Given the description of an element on the screen output the (x, y) to click on. 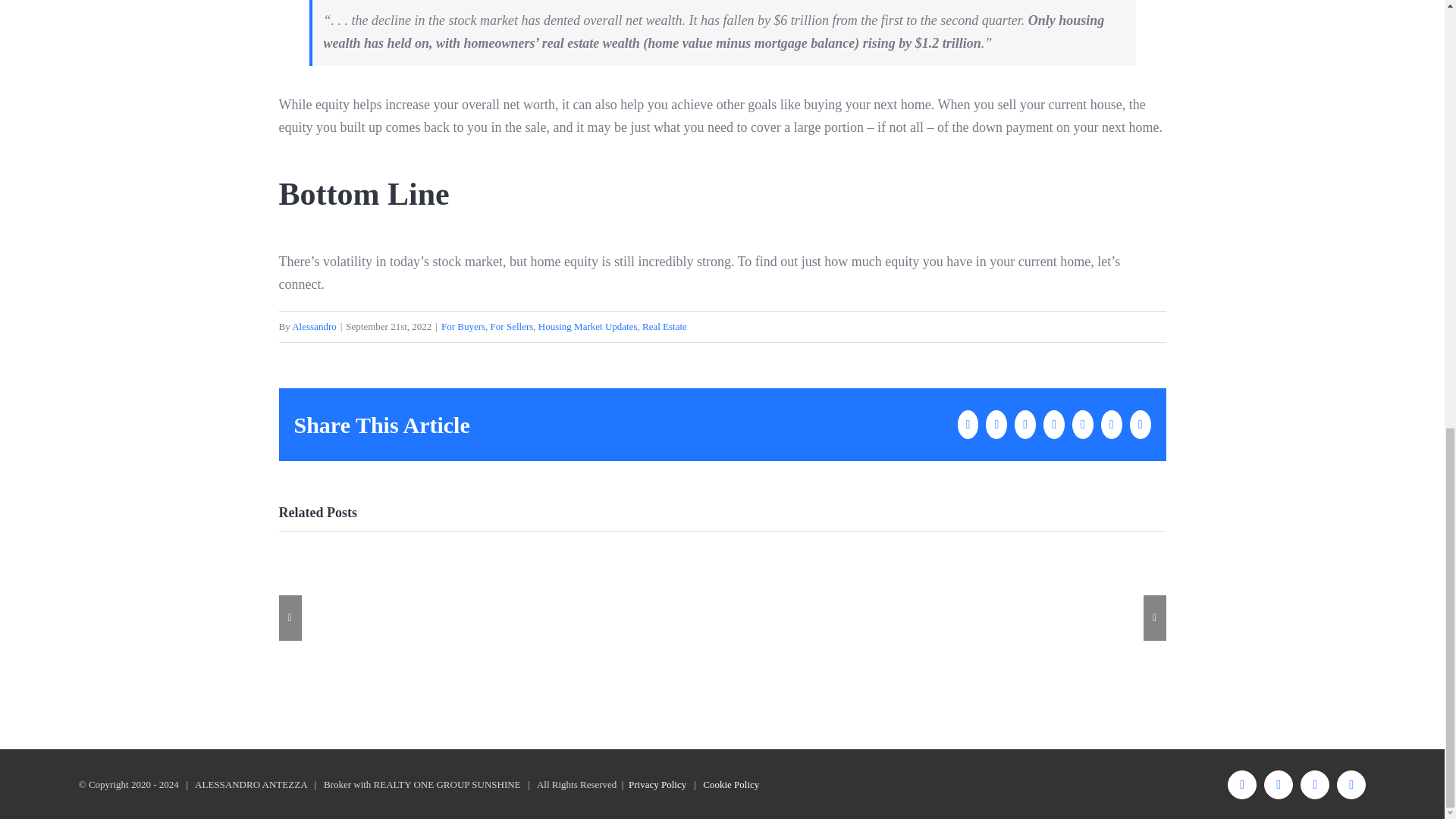
Privacy Policy (656, 784)
Twitter (1277, 784)
Housing Market Updates (587, 326)
Instagram (1314, 784)
LinkedIn (1350, 784)
For Buyers (462, 326)
Real Estate (664, 326)
Facebook (1241, 784)
Privacy Policy (656, 784)
Cookie Policy (730, 784)
Facebook (1241, 784)
For Sellers (512, 326)
Alessandro (314, 326)
Posts by Alessandro (314, 326)
Twitter (1277, 784)
